Given the description of an element on the screen output the (x, y) to click on. 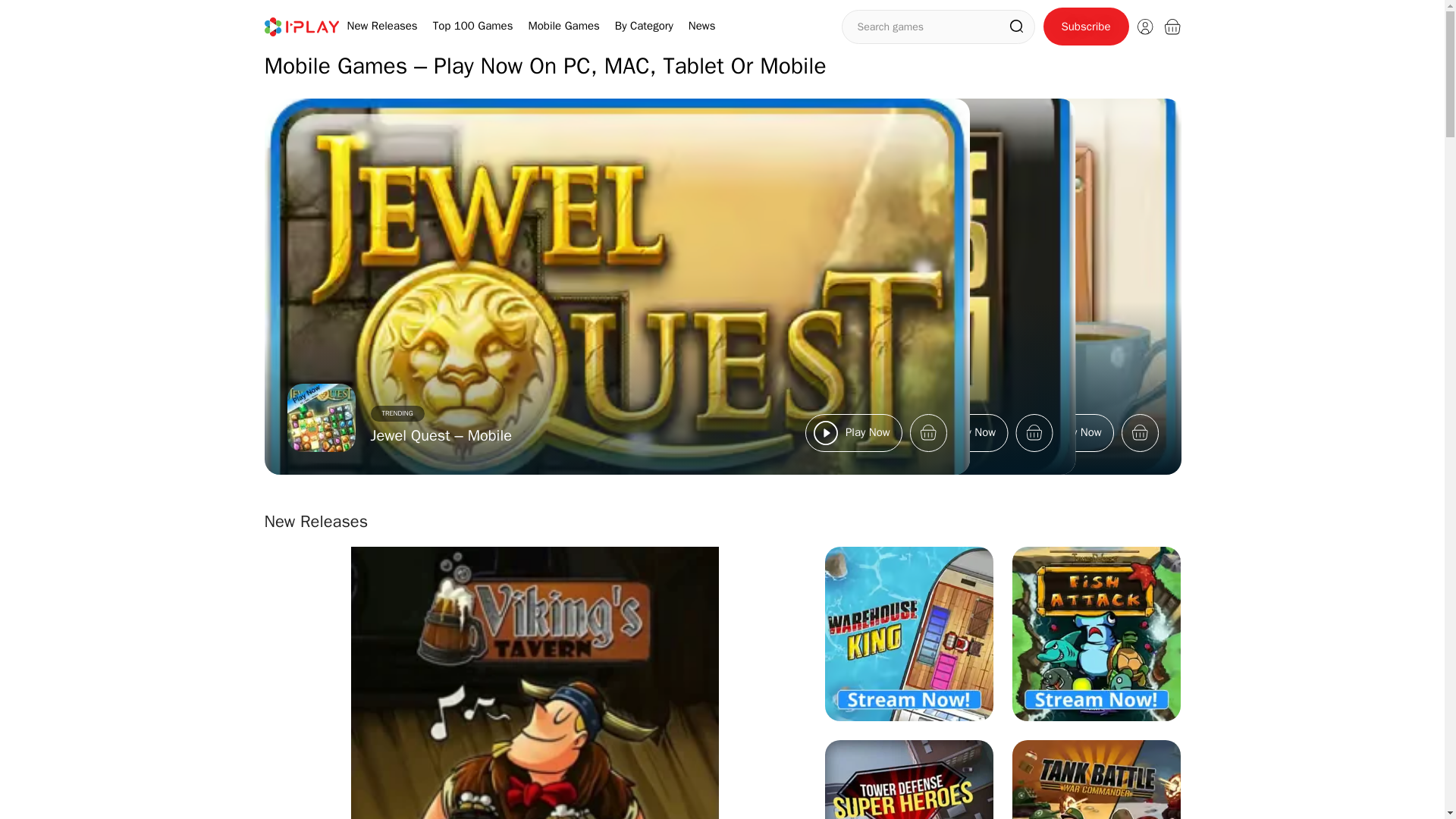
News (702, 25)
Play Now (851, 432)
Search (1017, 26)
Search (1017, 26)
Deal or No Deal for Prizes (561, 434)
Search (1017, 26)
By Category (643, 25)
New Releases (382, 25)
Daily Jigsaw (622, 434)
Play Now (956, 432)
Top 100 Games (472, 25)
Mobile Games (562, 25)
Play Now (1063, 432)
Subscribe (1086, 26)
